Given the description of an element on the screen output the (x, y) to click on. 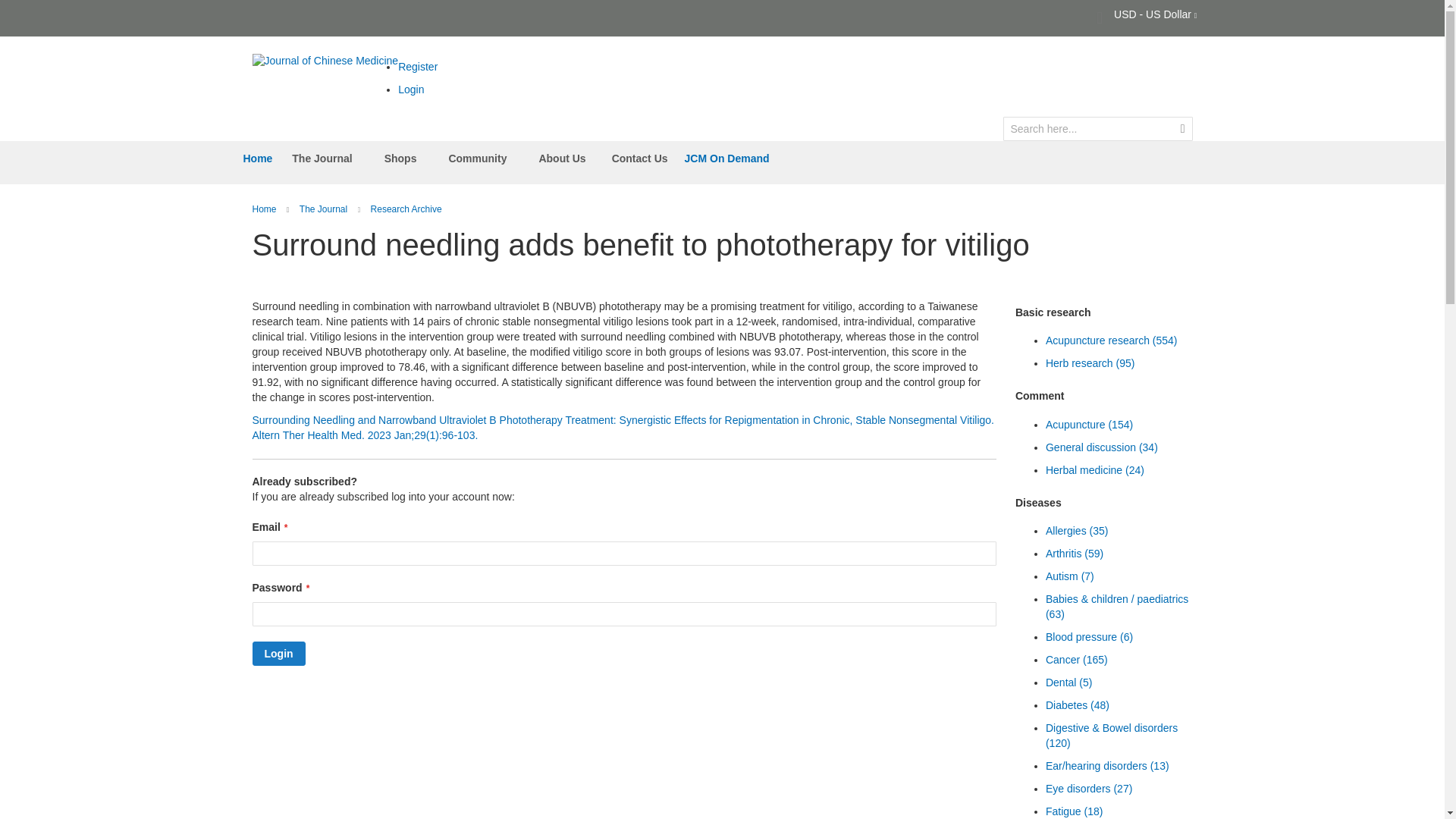
Email (623, 553)
The journal (324, 208)
Research Archive (406, 208)
Login (410, 89)
The Journal (324, 158)
Go to Home Page (264, 208)
Home (257, 158)
Password (623, 613)
Register (417, 66)
Journal of Chinese Medicine (324, 61)
